Given the description of an element on the screen output the (x, y) to click on. 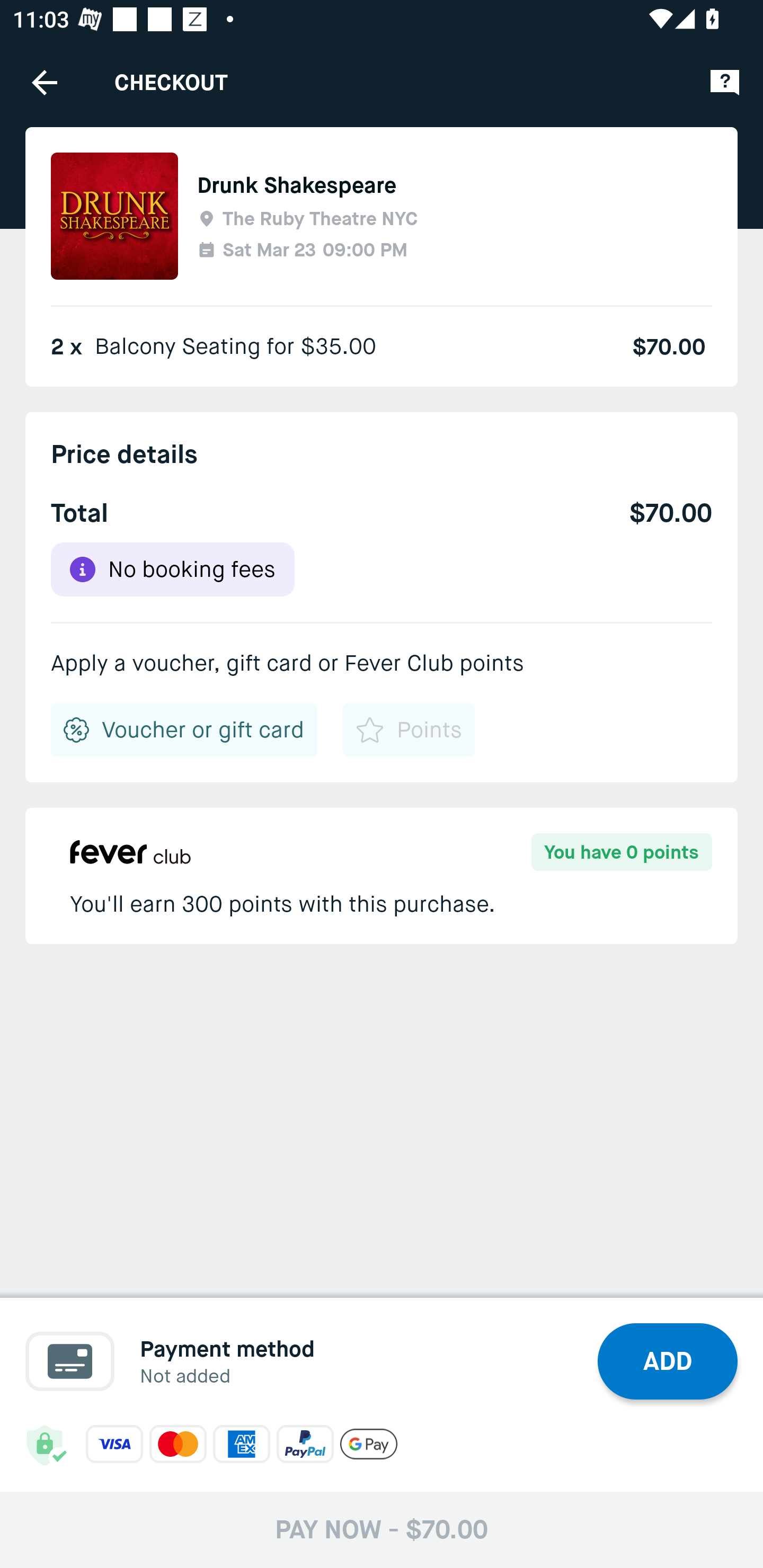
Navigate up (44, 82)
Help (724, 81)
Voucher or gift card (184, 729)
Points (408, 729)
ADD (667, 1361)
PAY NOW - $70.00 (381, 1529)
